Given the description of an element on the screen output the (x, y) to click on. 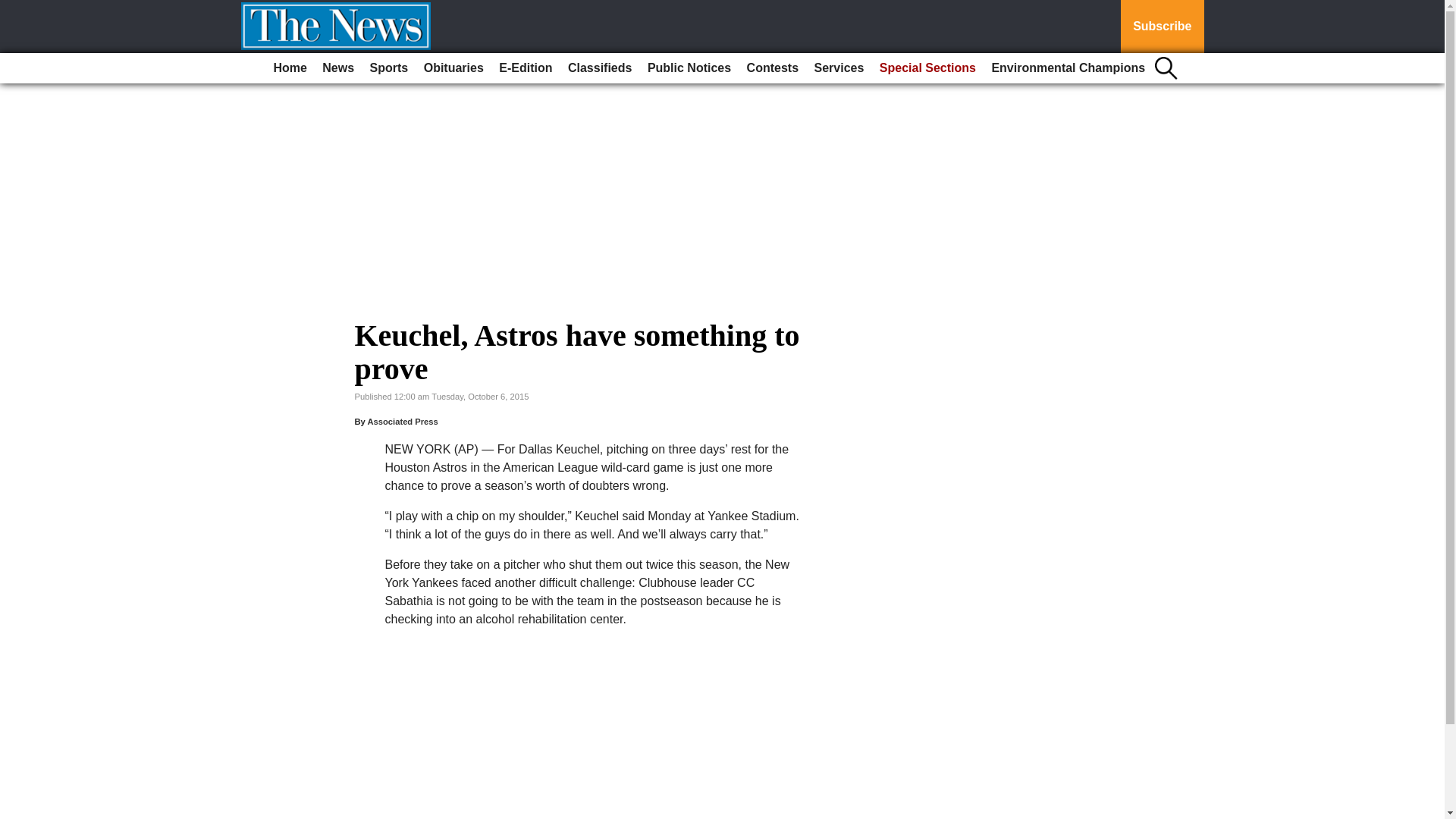
Obituaries (453, 68)
Contests (773, 68)
E-Edition (525, 68)
Home (289, 68)
Services (839, 68)
Classifieds (599, 68)
Subscribe (1162, 26)
Sports (389, 68)
Go (13, 9)
Associated Press (402, 420)
